Given the description of an element on the screen output the (x, y) to click on. 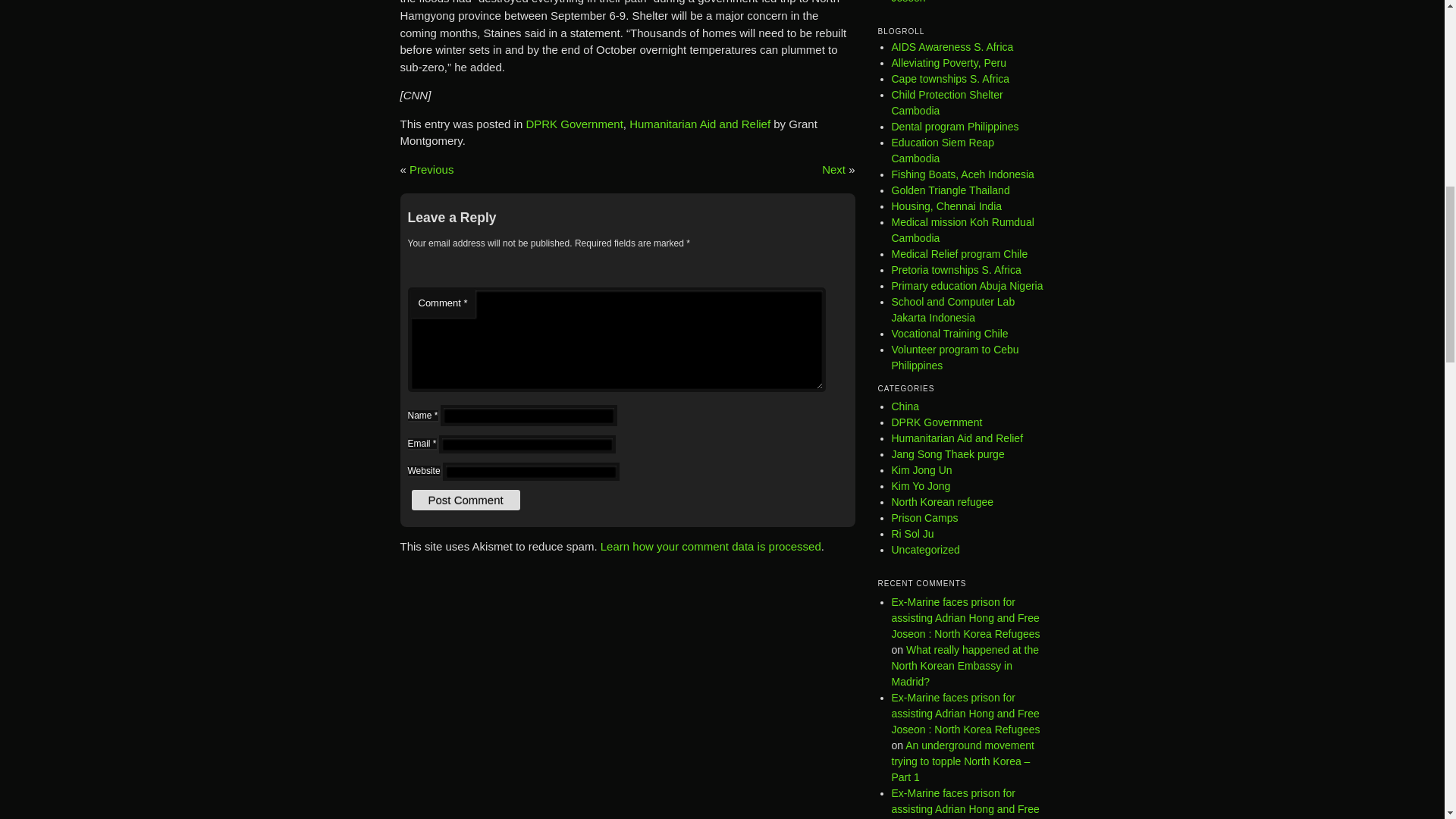
Post Comment (464, 499)
Humanitarian Aid and Relief (699, 123)
Pretoria townships S. Africa (956, 269)
Medical Relief program Chile (959, 254)
Post Comment (464, 499)
Education Siem Reap Cambodia (942, 150)
Golden Triangle Thailand (950, 190)
AIDS Awareness S. Africa (952, 46)
Alleviating Poverty, Peru (948, 62)
